Given the description of an element on the screen output the (x, y) to click on. 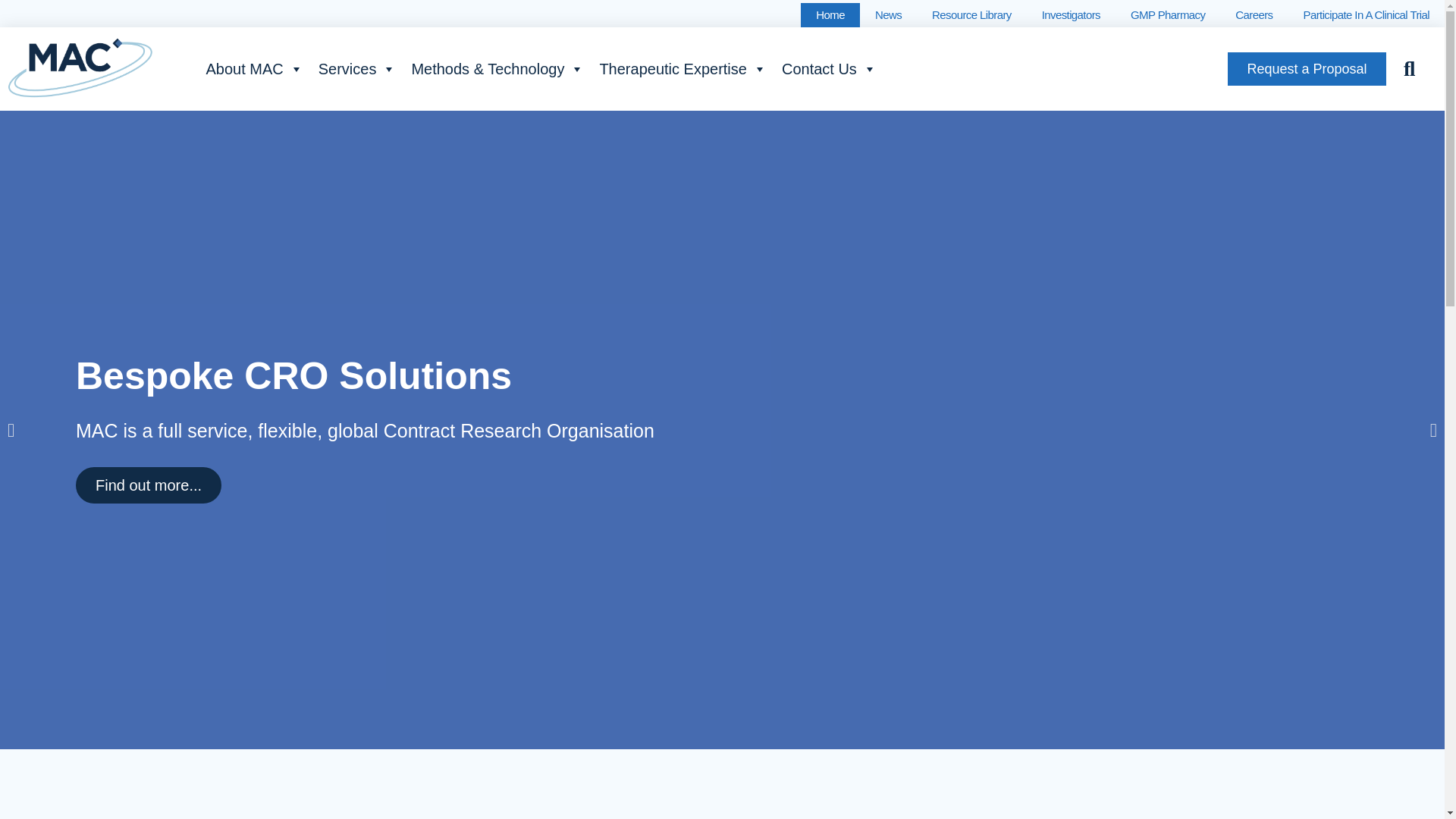
GMP Pharmacy (1167, 15)
News (888, 15)
Resource Library (971, 15)
Services (357, 69)
Careers (1253, 15)
About MAC (254, 69)
Home (830, 15)
Investigators (1070, 15)
